Given the description of an element on the screen output the (x, y) to click on. 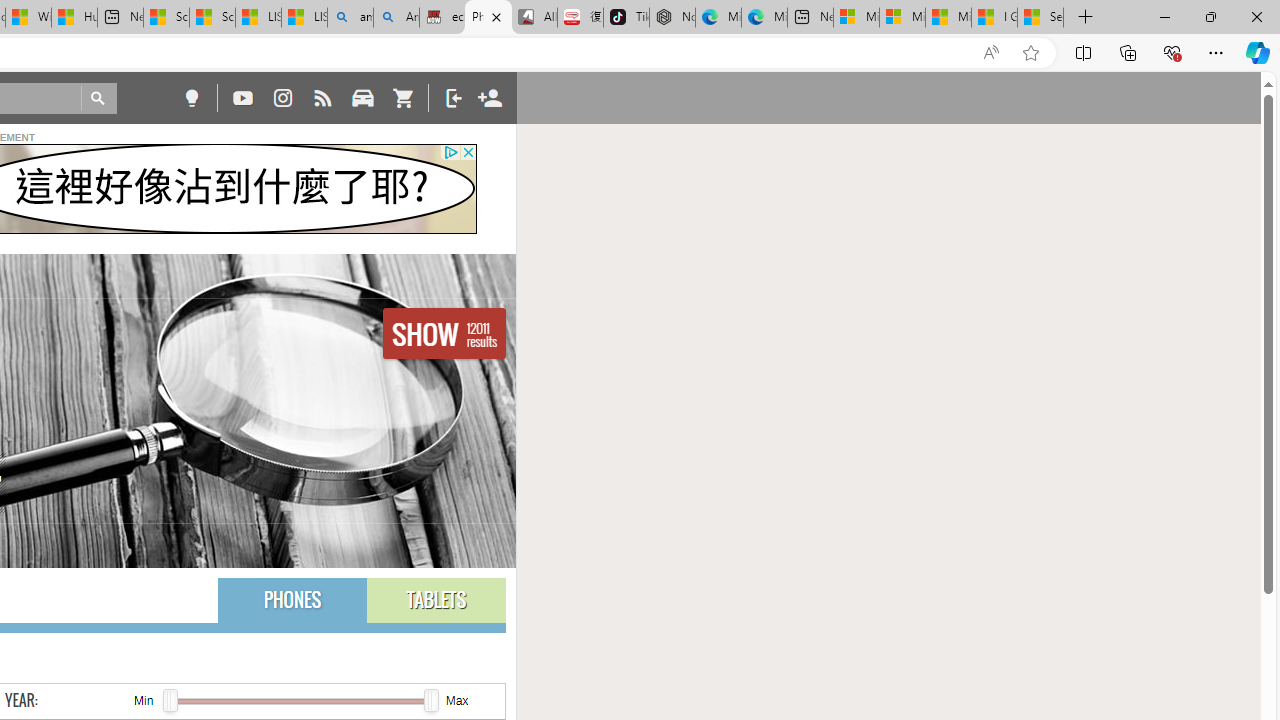
TABLETS (436, 600)
TikTok (626, 17)
Class: privacy_out (450, 151)
I Gained 20 Pounds of Muscle in 30 Days! | Watch (994, 17)
Phone Finder - search for a phone by feature - GSMArena.com (487, 17)
PHONES (292, 600)
